Given the description of an element on the screen output the (x, y) to click on. 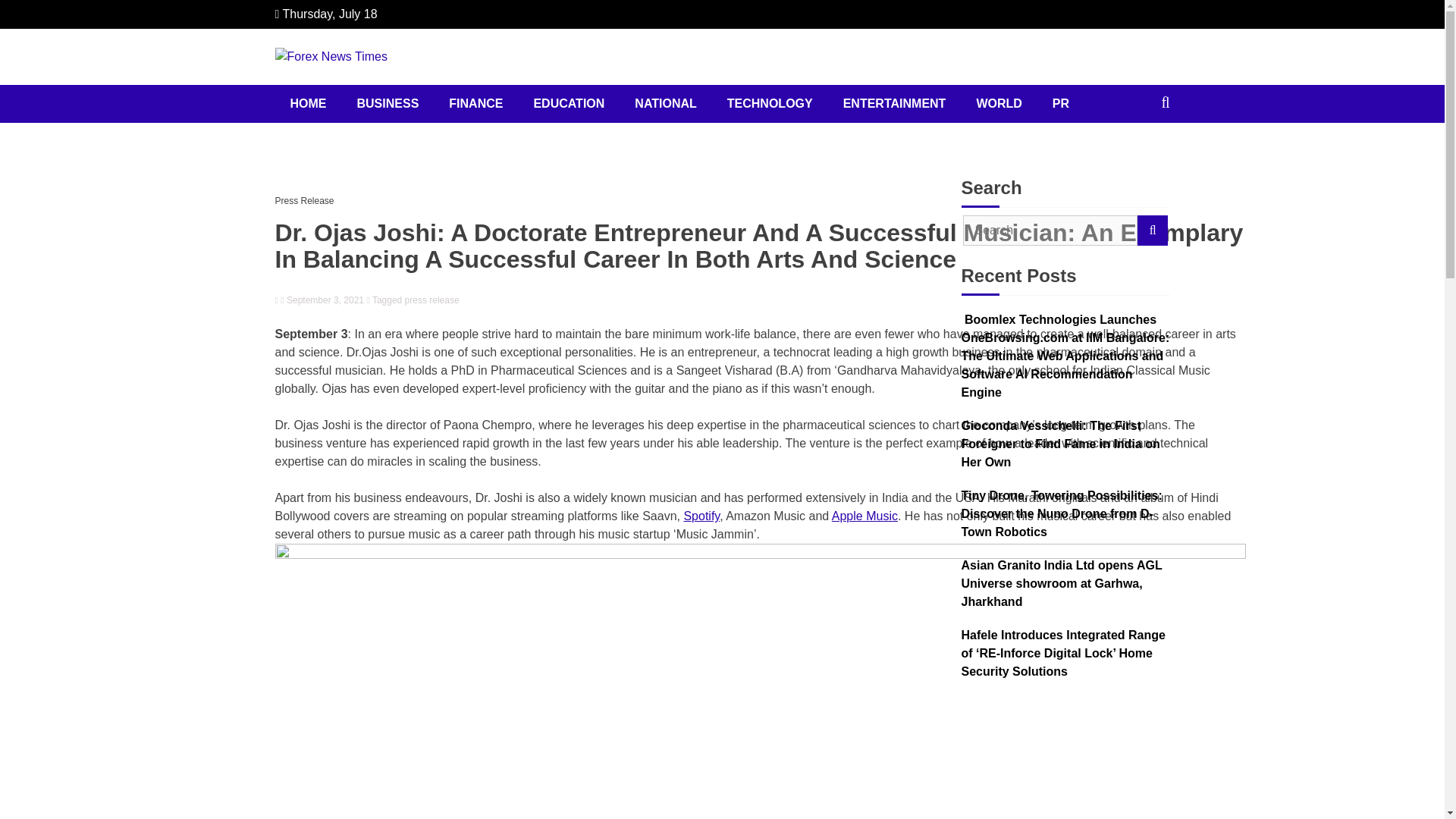
TECHNOLOGY (769, 103)
BUSINESS (386, 103)
Forex News Times (407, 88)
FINANCE (475, 103)
Press Release (307, 200)
HOME (307, 103)
ENTERTAINMENT (894, 103)
Spotify (700, 515)
press release (432, 299)
Apple Music (864, 515)
WORLD (998, 103)
NATIONAL (665, 103)
